Given the description of an element on the screen output the (x, y) to click on. 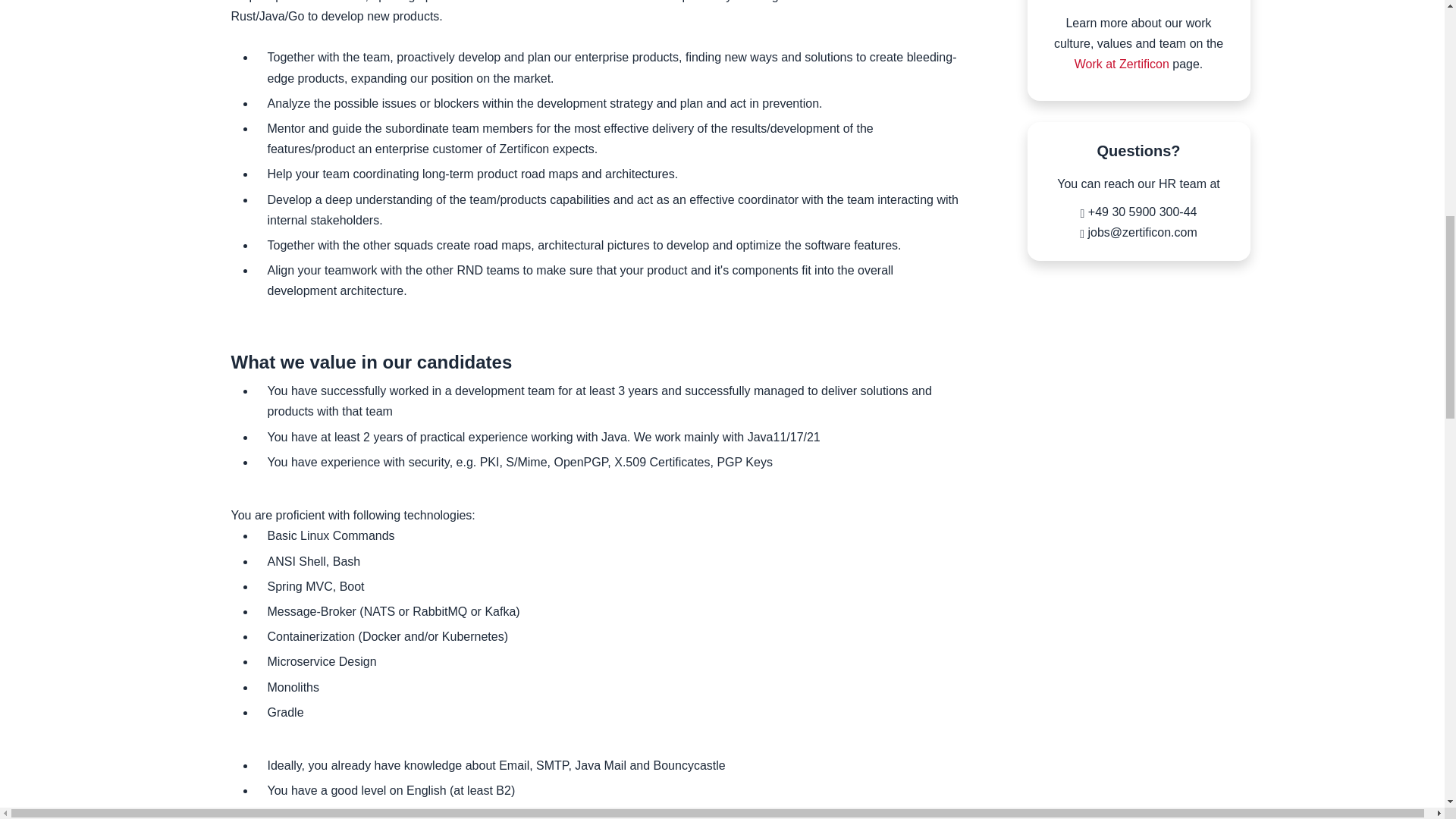
Zertificon's vision, values and team (1121, 63)
